Given the description of an element on the screen output the (x, y) to click on. 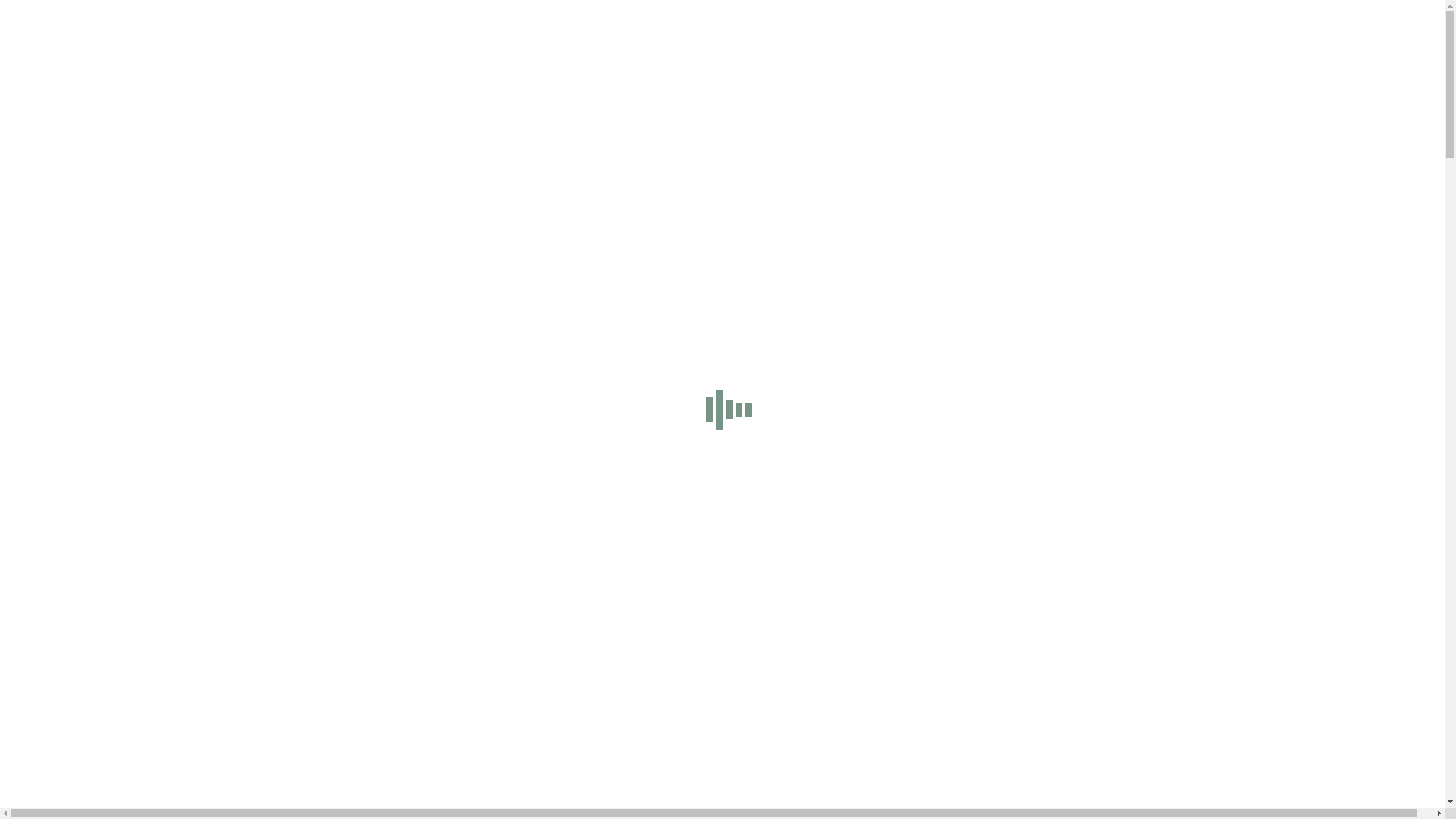
Instagram page opens in new window Element type: text (450, 25)
Shop Element type: text (48, 184)
Irritable Bowel Syndrome Element type: text (129, 362)
Checkout Element type: text (78, 564)
 0 Element type: text (10, 538)
Philosophy Element type: text (93, 457)
About Element type: text (51, 430)
Digestive Issues Element type: text (105, 796)
Naturopathy Element type: text (96, 700)
Practitioners Element type: text (97, 444)
Twitter page opens in new window Element type: text (272, 25)
Depression Element type: text (93, 294)
Weight Loss Element type: text (96, 417)
Search form Element type: hover (73, 631)
Digestive Issues Element type: text (105, 307)
View Cart Element type: text (30, 564)
Clinical Nutrition Element type: text (109, 714)
GAPS Element type: text (81, 321)
Praise Element type: text (81, 485)
Leaky Gut Syndrome Element type: text (118, 376)
Depression Element type: text (93, 782)
Skip to content Element type: text (42, 12)
Hormonal Imbalances Element type: text (120, 348)
Allergies and Intolerances Element type: text (130, 755)
Go! Element type: text (20, 647)
Naturopathy Element type: text (96, 212)
Services Element type: text (56, 198)
Allergies and Intolerances Element type: text (130, 266)
FAQs Element type: text (80, 471)
General Immune Element type: text (107, 335)
Low Energy and Sleep Issues Element type: text (138, 389)
Pinterest page opens in new window Element type: text (630, 25)
Facebook page opens in new window Element type: text (97, 25)
Clinical Nutrition Element type: text (109, 225)
Blog Element type: text (47, 498)
Shop Element type: text (48, 673)
Conditions Treated Element type: text (82, 239)
Adrenal Fatigue Element type: text (105, 741)
Natural Fertility Element type: text (105, 403)
Chronic Fatigue Syndrome Element type: text (131, 768)
Services Element type: text (56, 686)
Contact Element type: text (55, 512)
GAPS Element type: text (81, 809)
Conditions Treated Element type: text (82, 727)
BOOK NOW Element type: text (39, 53)
Chronic Fatigue Syndrome Element type: text (131, 280)
Adrenal Fatigue Element type: text (105, 253)
